Given the description of an element on the screen output the (x, y) to click on. 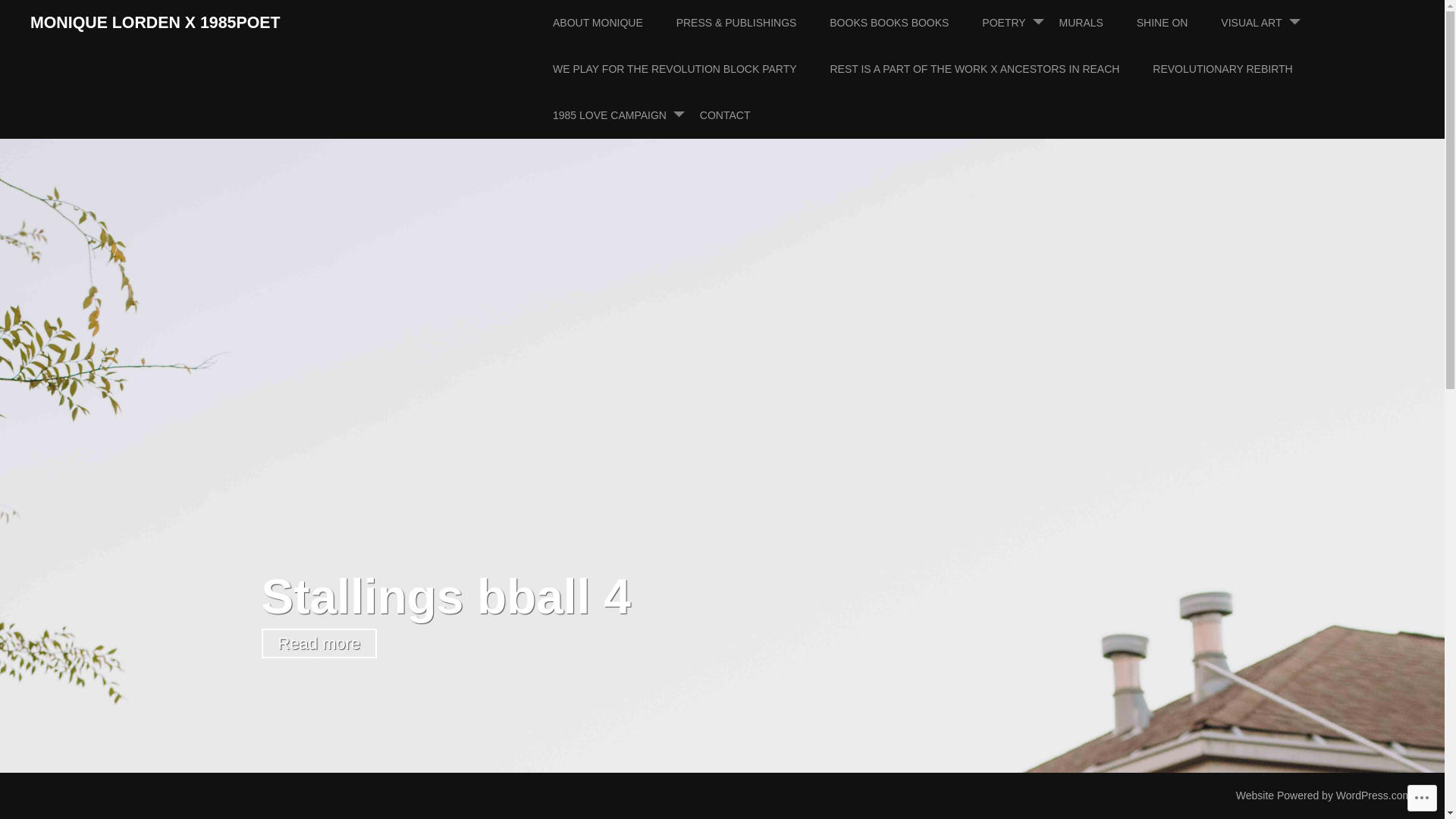
SHINE ON Element type: text (1177, 23)
BOOKS BOOKS BOOKS Element type: text (904, 23)
REVOLUTIONARY REBIRTH Element type: text (1237, 69)
MURALS Element type: text (1096, 23)
1985 LOVE CAMPAIGN Element type: text (624, 115)
Read more Element type: text (318, 642)
VISUAL ART Element type: text (1265, 23)
ABOUT MONIQUE Element type: text (612, 23)
CONTACT Element type: text (740, 115)
Stallings bball 4 Element type: text (445, 595)
MONIQUE LORDEN X 1985POET Element type: text (154, 22)
POETRY Element type: text (1018, 23)
WE PLAY FOR THE REVOLUTION BLOCK PARTY Element type: text (689, 69)
Website Powered by WordPress.com Element type: text (1323, 795)
PRESS & PUBLISHINGS Element type: text (751, 23)
REST IS A PART OF THE WORK X ANCESTORS IN REACH Element type: text (989, 69)
